Given the description of an element on the screen output the (x, y) to click on. 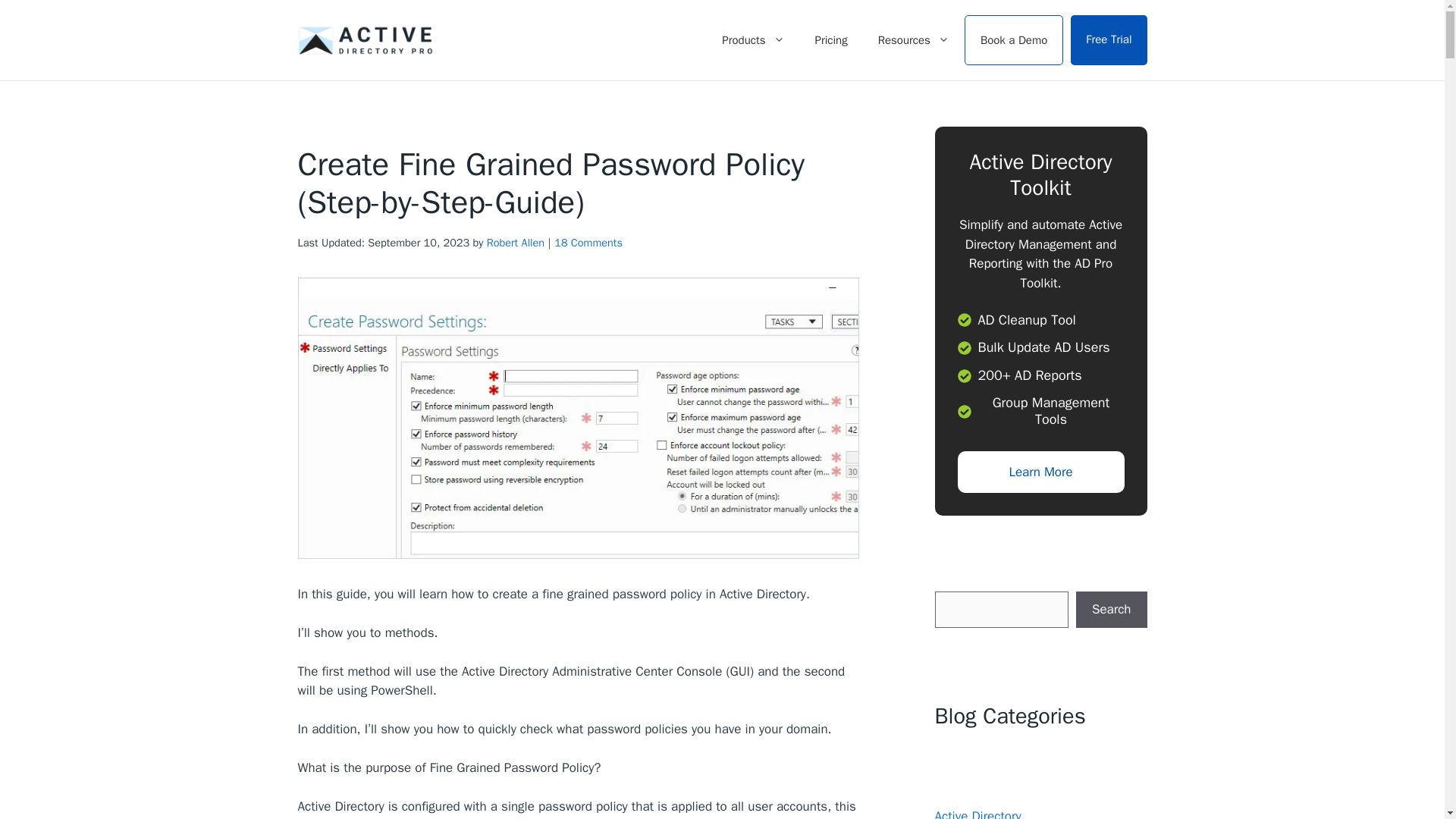
Resources (913, 40)
Free Trial (1108, 40)
Products (752, 40)
Pricing (831, 40)
Robert Allen (515, 242)
View all posts by Robert Allen (515, 242)
18 Comments (588, 242)
Book a Demo (1012, 40)
